Given the description of an element on the screen output the (x, y) to click on. 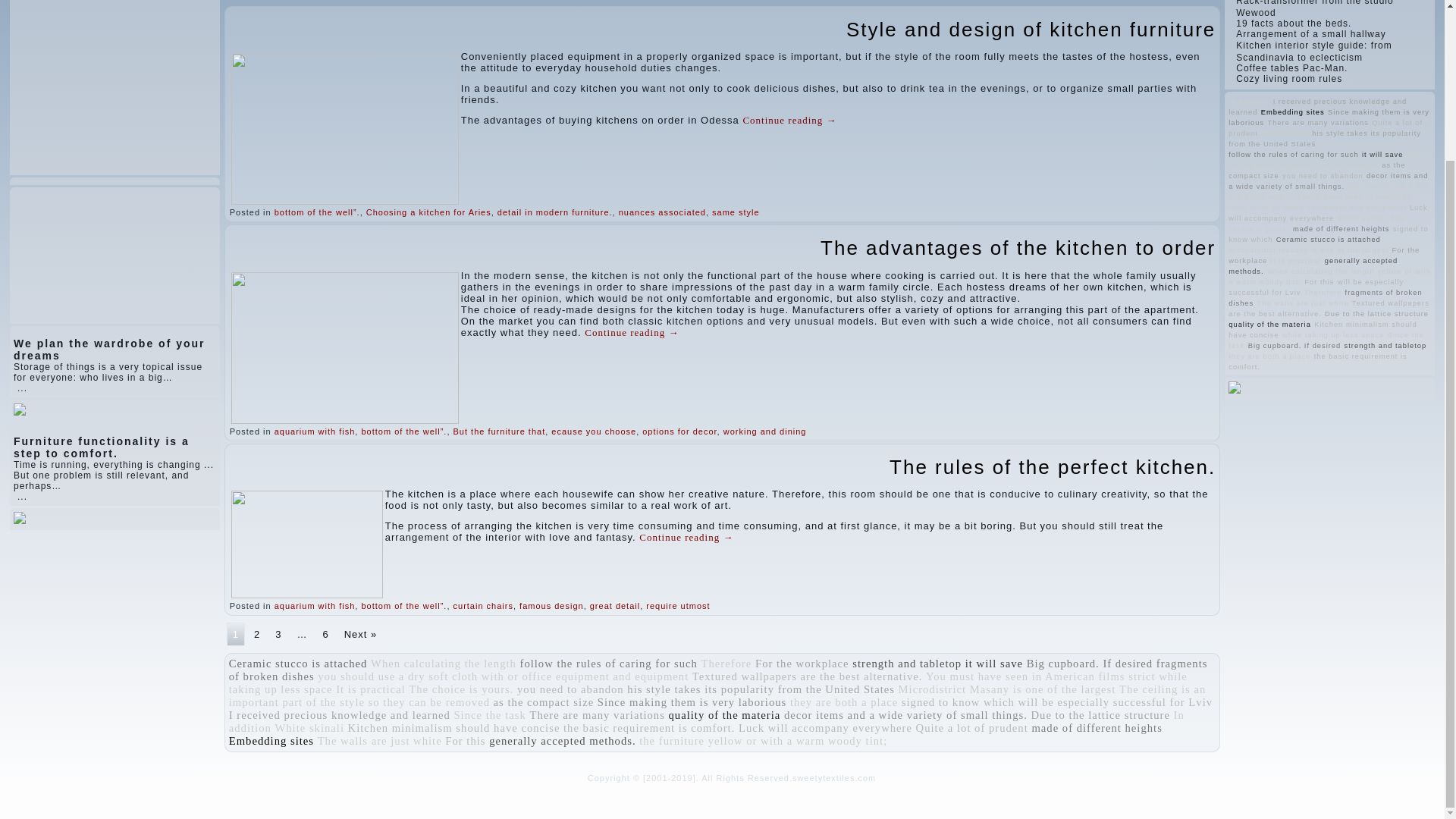
... (22, 388)
The rules of the perfect kitchen. (1052, 466)
14 topics (298, 663)
same style (735, 212)
nuances associated (662, 212)
... (22, 496)
great detail (614, 605)
But the furniture that (499, 430)
options for decor (679, 430)
working and dining (764, 430)
detail in modern furniture. (554, 212)
Style and design of kitchen furniture (1030, 29)
The advantages of the kitchen to order (1018, 247)
The advantages of the kitchen to order (1018, 247)
16 topics (905, 663)
